Given the description of an element on the screen output the (x, y) to click on. 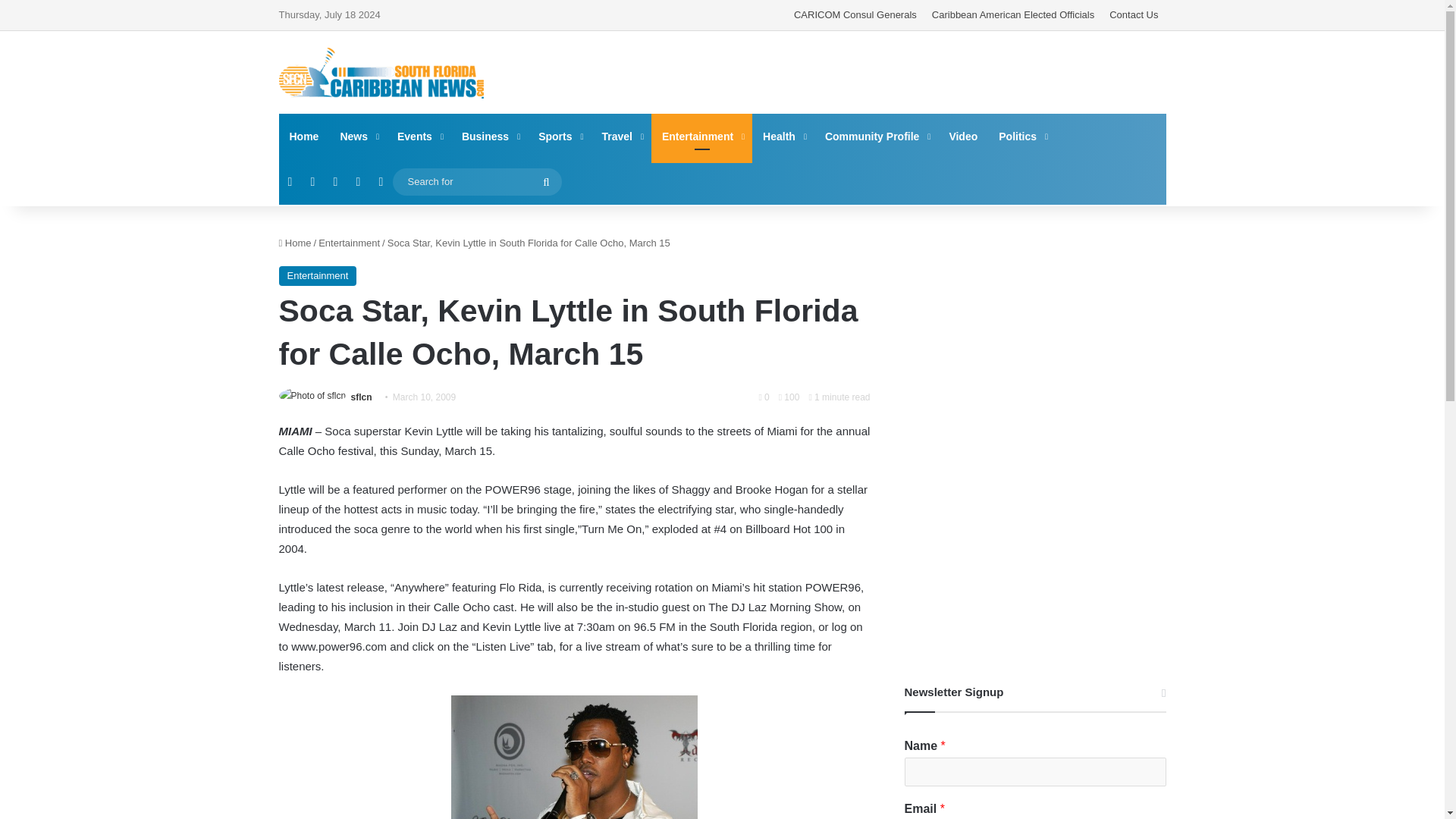
Video (962, 135)
Travel (620, 135)
Community Profile (875, 135)
News (358, 135)
Contact Us (1134, 15)
Entertainment (317, 275)
Politics (1021, 135)
Business (489, 135)
Events (419, 135)
3rd party ad content (873, 70)
South Florida Caribbean News (381, 72)
Entertainment (701, 135)
Entertainment (349, 242)
Sports (559, 135)
sflcn (361, 397)
